Given the description of an element on the screen output the (x, y) to click on. 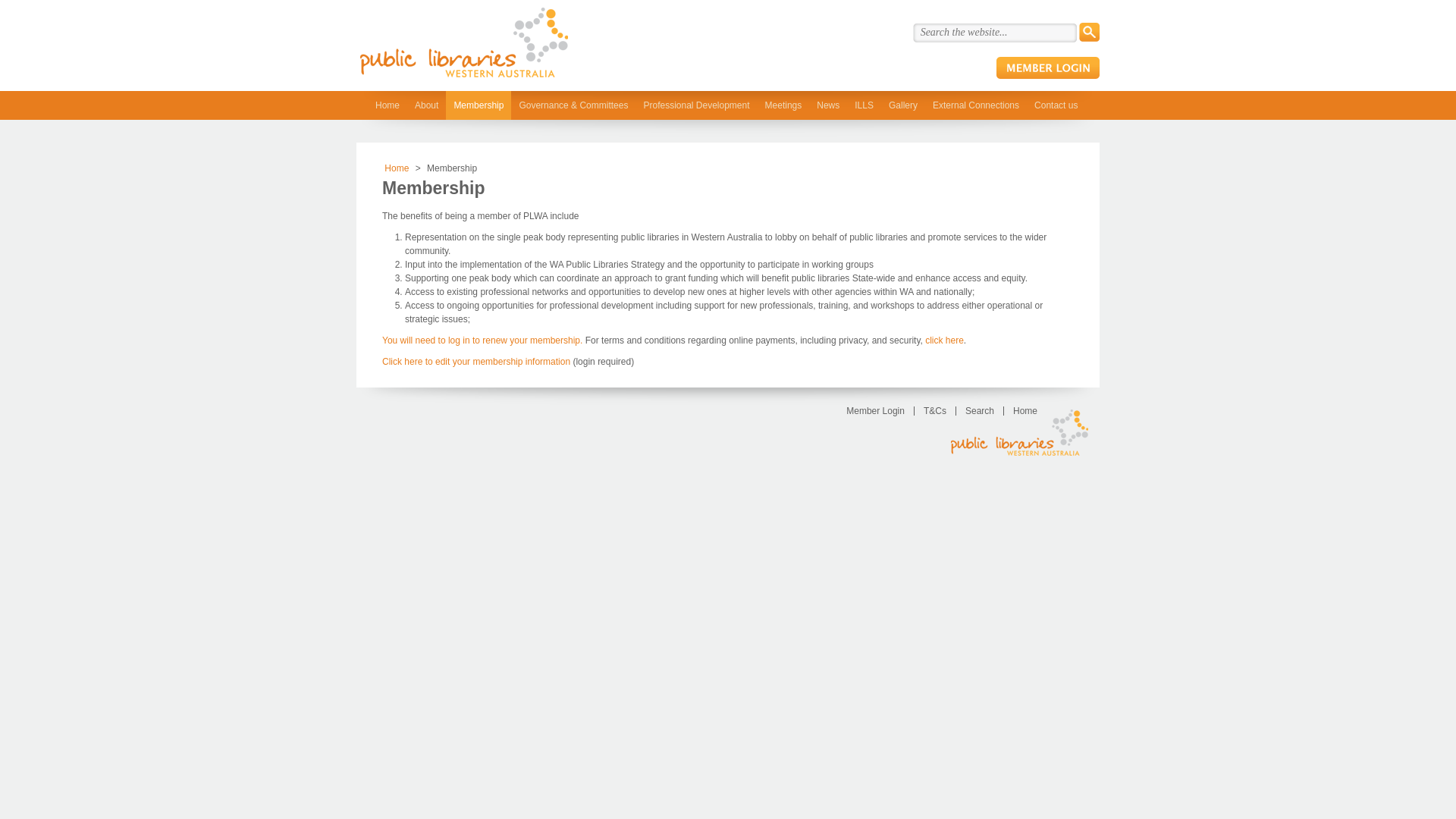
Meetings Element type: text (783, 105)
click here Element type: text (944, 340)
Governance & Committees Element type: text (573, 105)
News Element type: text (828, 105)
Home Element type: text (387, 105)
About Element type: text (426, 105)
Search Element type: text (979, 410)
Membership Element type: text (478, 105)
Home Element type: text (396, 168)
You will need to log in to renew your membership. Element type: text (482, 340)
Member Login Element type: text (875, 410)
External Connections Element type: text (975, 105)
Home Element type: text (1024, 410)
Professional Development Element type: text (695, 105)
Click here to edit your membership information Element type: text (476, 361)
Gallery Element type: text (903, 105)
T&Cs Element type: text (934, 410)
ILLS Element type: text (864, 105)
Contact us Element type: text (1055, 105)
Search Element type: text (1089, 31)
